Given the description of an element on the screen output the (x, y) to click on. 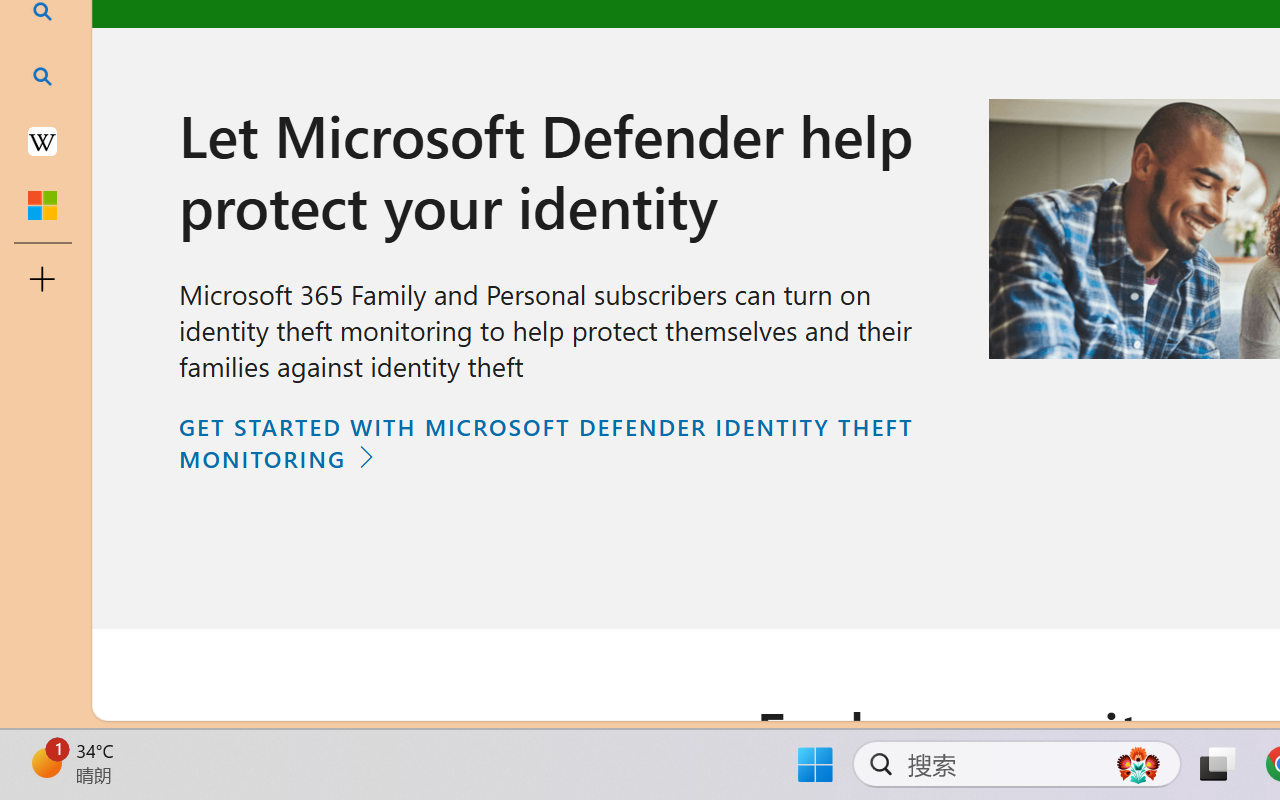
Earth - Wikipedia (42, 140)
